Given the description of an element on the screen output the (x, y) to click on. 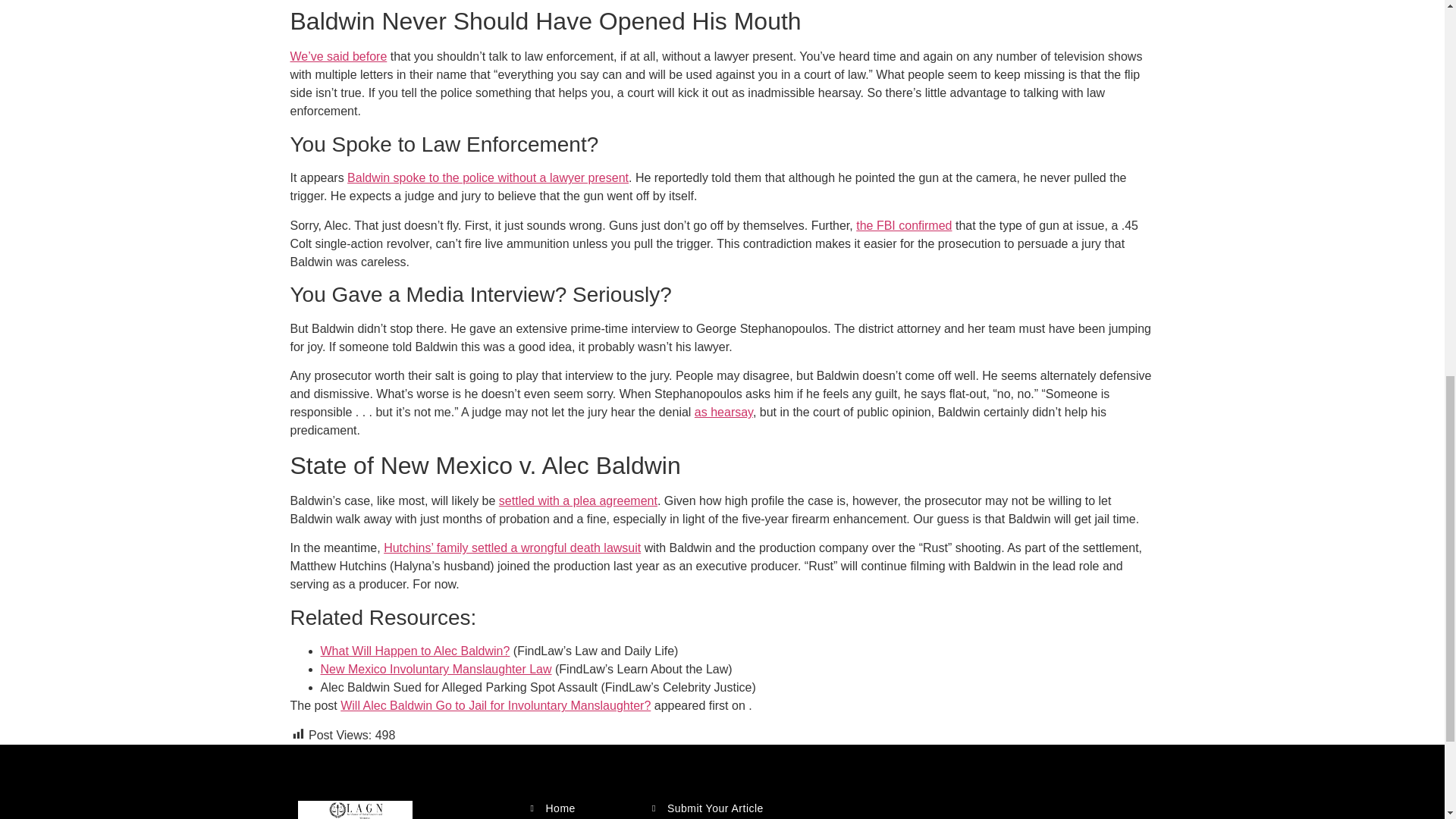
Baldwin spoke to the police without a lawyer present (487, 177)
as hearsay (723, 411)
settled with a plea agreement (578, 500)
the FBI confirmed (904, 225)
New Mexico Involuntary Manslaughter Law (435, 668)
Home (582, 808)
Submit Your Article (727, 808)
Will Alec Baldwin Go to Jail for Involuntary Manslaughter? (495, 705)
What Will Happen to Alec Baldwin? (414, 650)
